Given the description of an element on the screen output the (x, y) to click on. 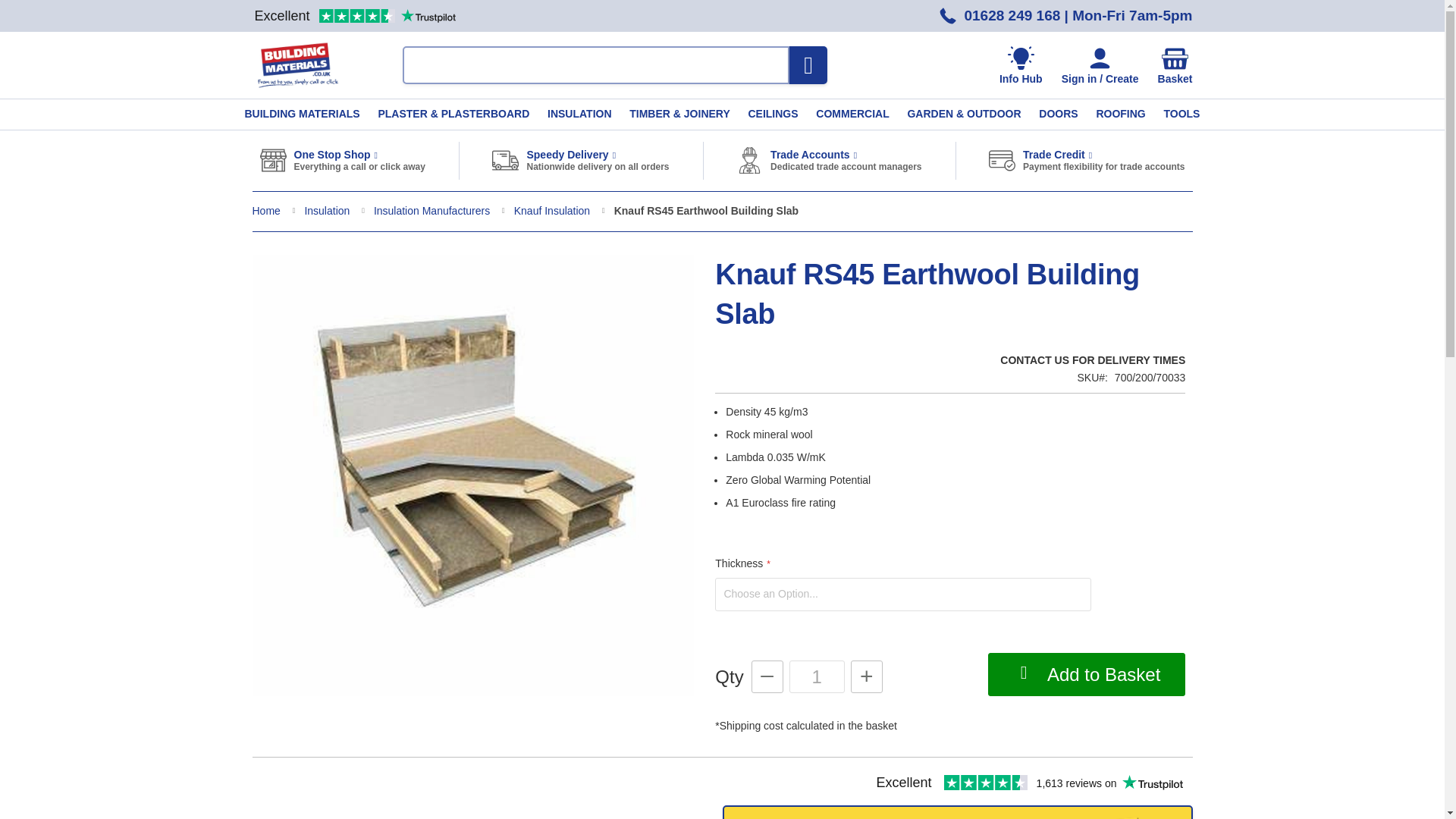
Building Materials Nationwide (296, 64)
Customer reviews powered by Trustpilot (1029, 782)
Info Hub (1020, 65)
Search (808, 64)
Add to Basket (1086, 674)
BUILDING MATERIALS (300, 114)
Customer reviews powered by Trustpilot (354, 15)
Basket (1174, 65)
Go to Home Page (266, 210)
Availability (1092, 360)
1 (816, 676)
Search (808, 64)
Qty (816, 676)
